Given the description of an element on the screen output the (x, y) to click on. 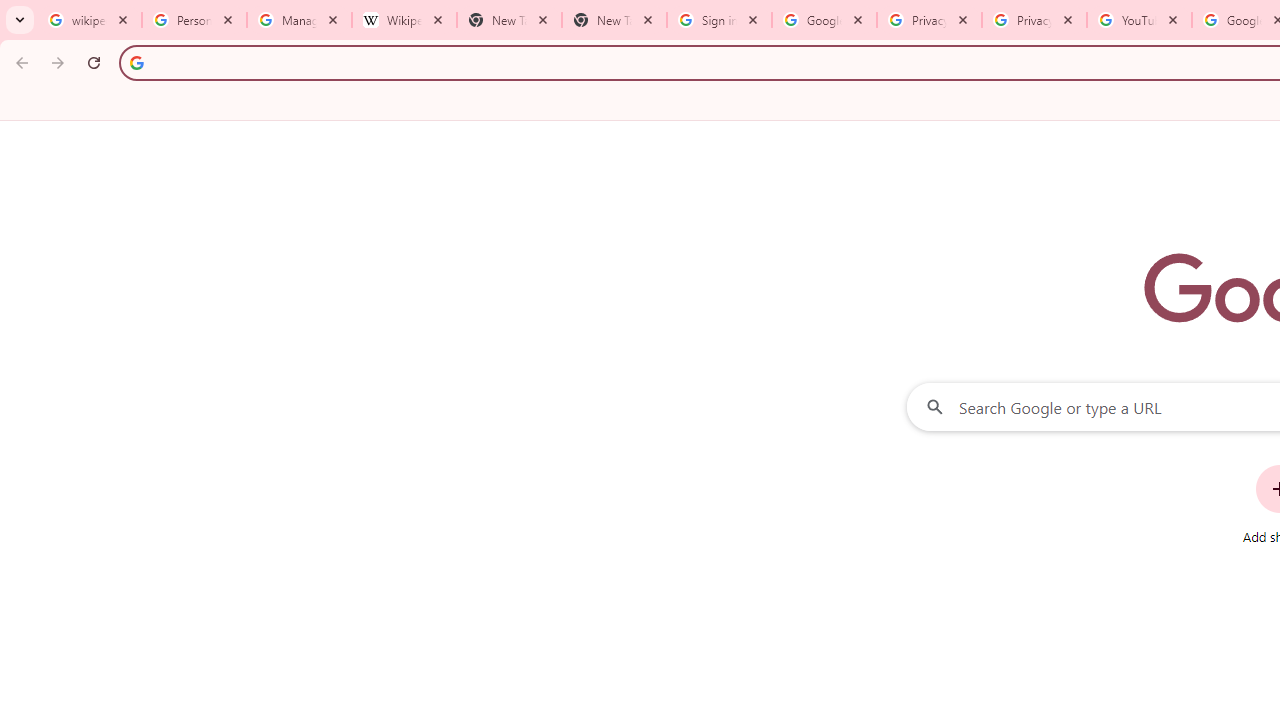
Personalization & Google Search results - Google Search Help (194, 20)
Manage your Location History - Google Search Help (299, 20)
Sign in - Google Accounts (718, 20)
Search icon (136, 62)
YouTube (1138, 20)
New Tab (613, 20)
